Given the description of an element on the screen output the (x, y) to click on. 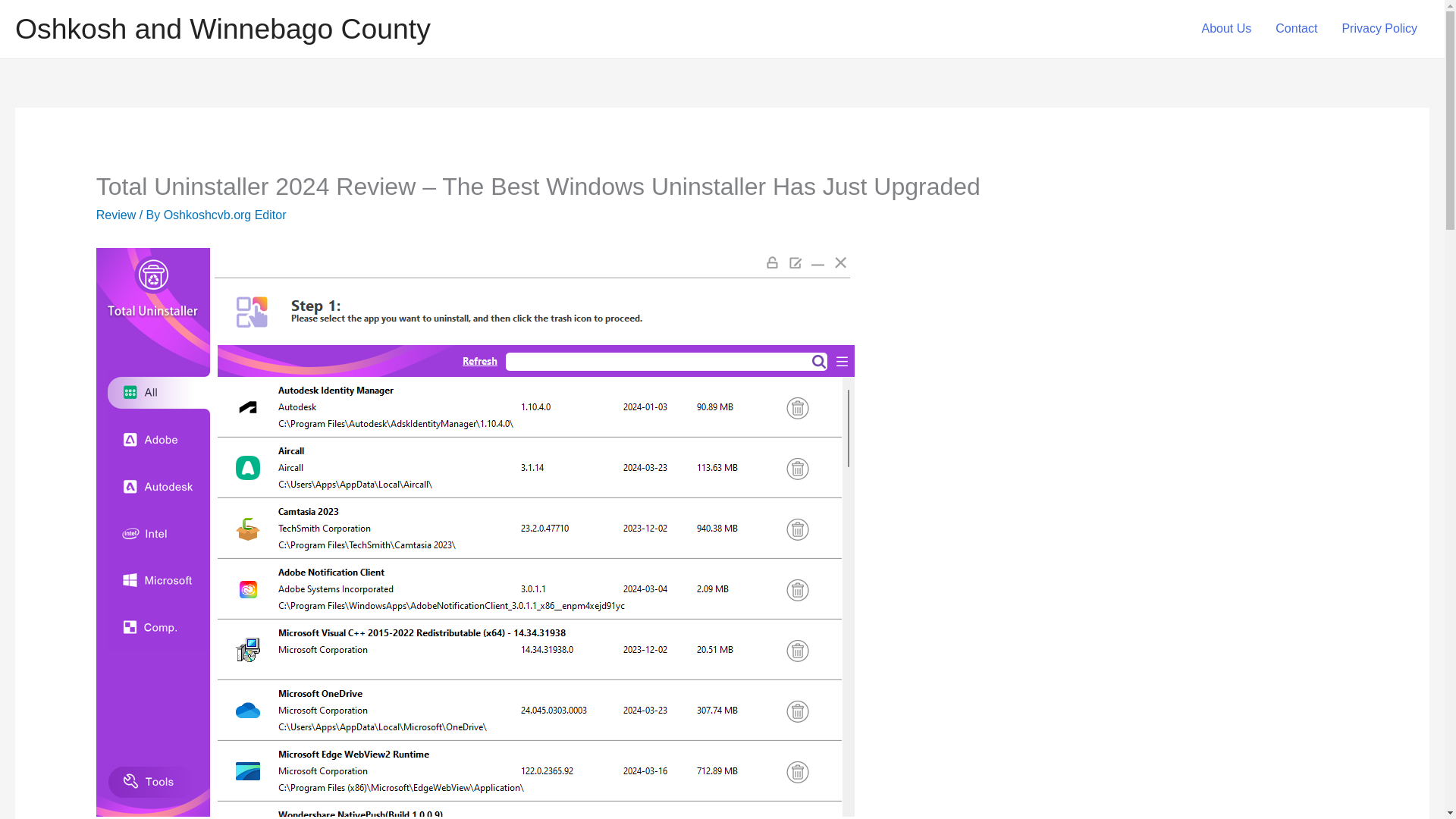
Privacy Policy (1379, 28)
Oshkoshcvb.org Editor (224, 214)
About Us (1226, 28)
View all posts by Oshkoshcvb.org Editor (224, 214)
Oshkosh and Winnebago County (222, 29)
Review (115, 214)
Contact (1296, 28)
